Given the description of an element on the screen output the (x, y) to click on. 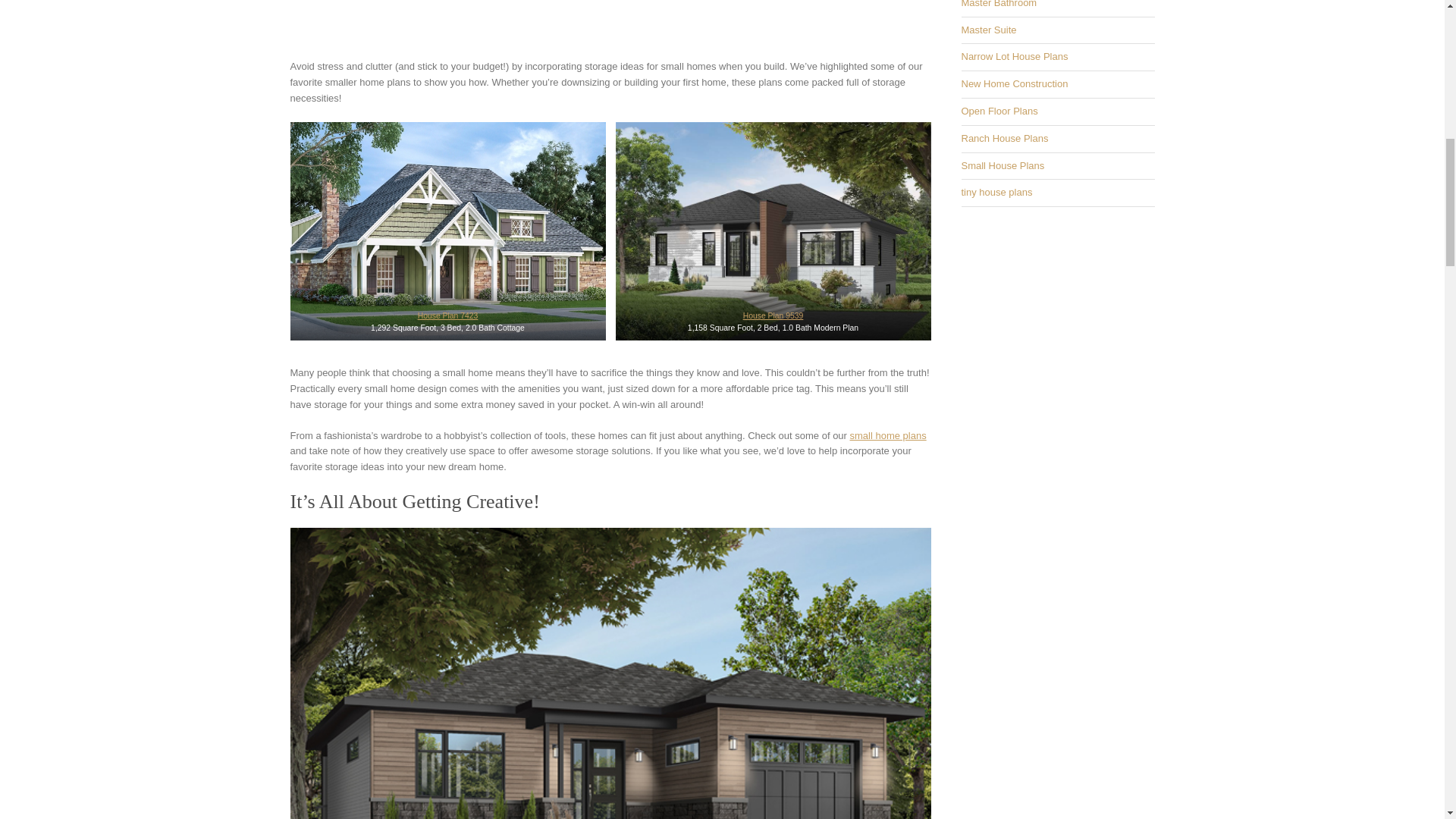
House Plan 7423 (448, 316)
small home plans (888, 435)
House Plan 9539 (772, 316)
